Given the description of an element on the screen output the (x, y) to click on. 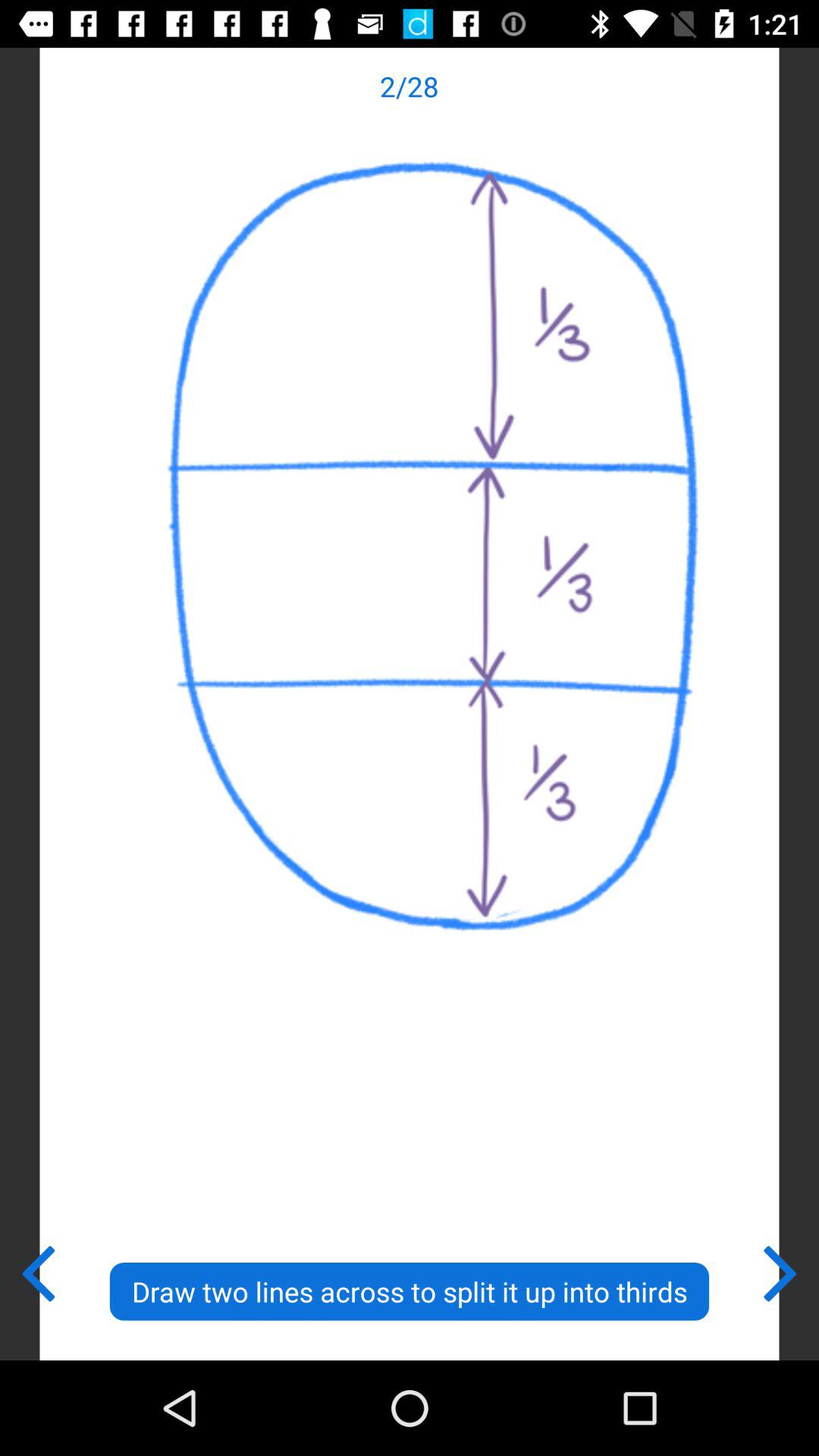
turn on the item to the right of draw two lines (781, 1270)
